Given the description of an element on the screen output the (x, y) to click on. 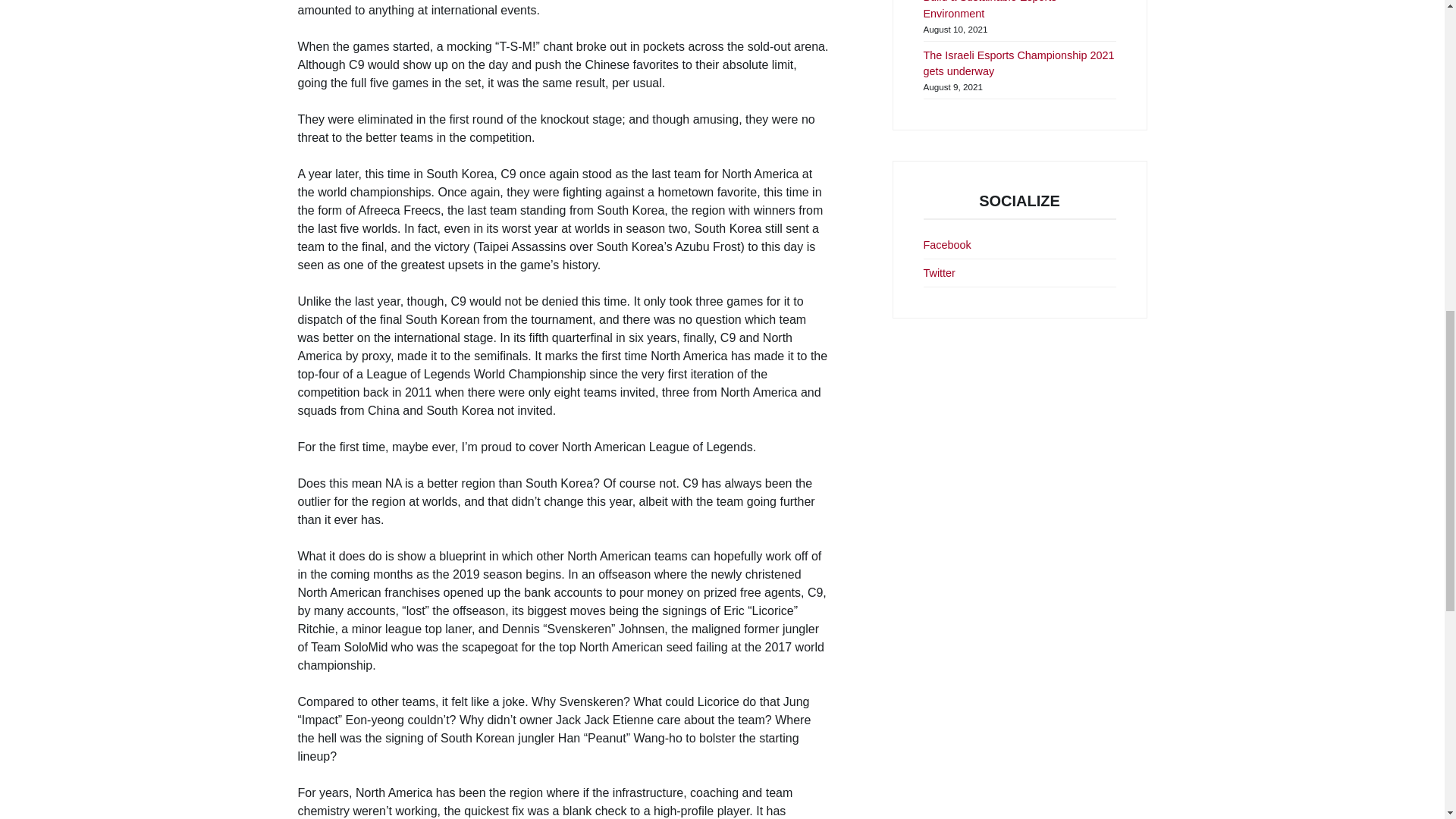
Facebook (947, 245)
Twitter (939, 273)
The Israeli Esports Championship 2021 gets underway (1019, 64)
